Given the description of an element on the screen output the (x, y) to click on. 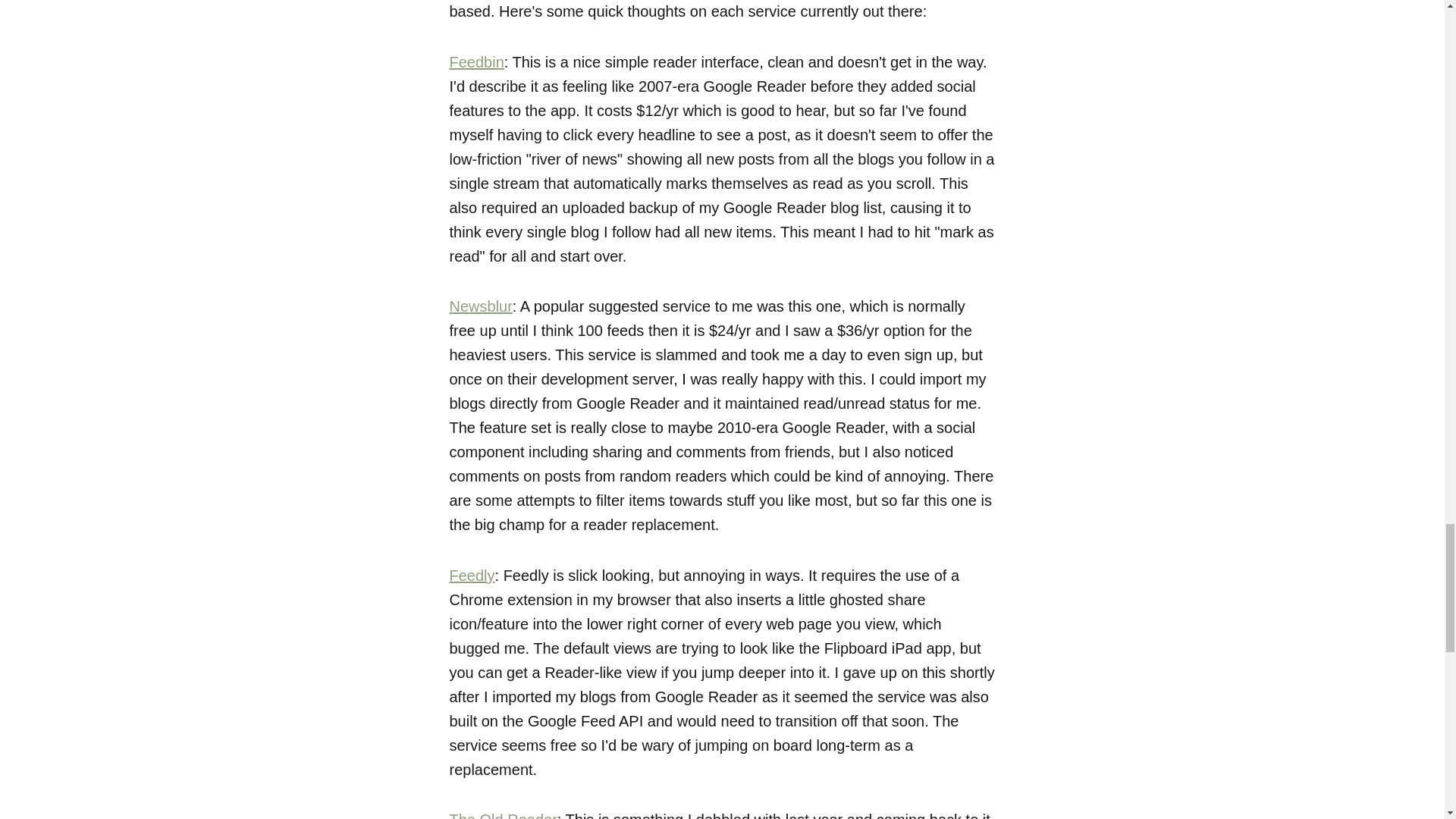
The Old Reader (502, 815)
Newsblur (480, 306)
Feedly (471, 575)
Feedbin (475, 62)
